Given the description of an element on the screen output the (x, y) to click on. 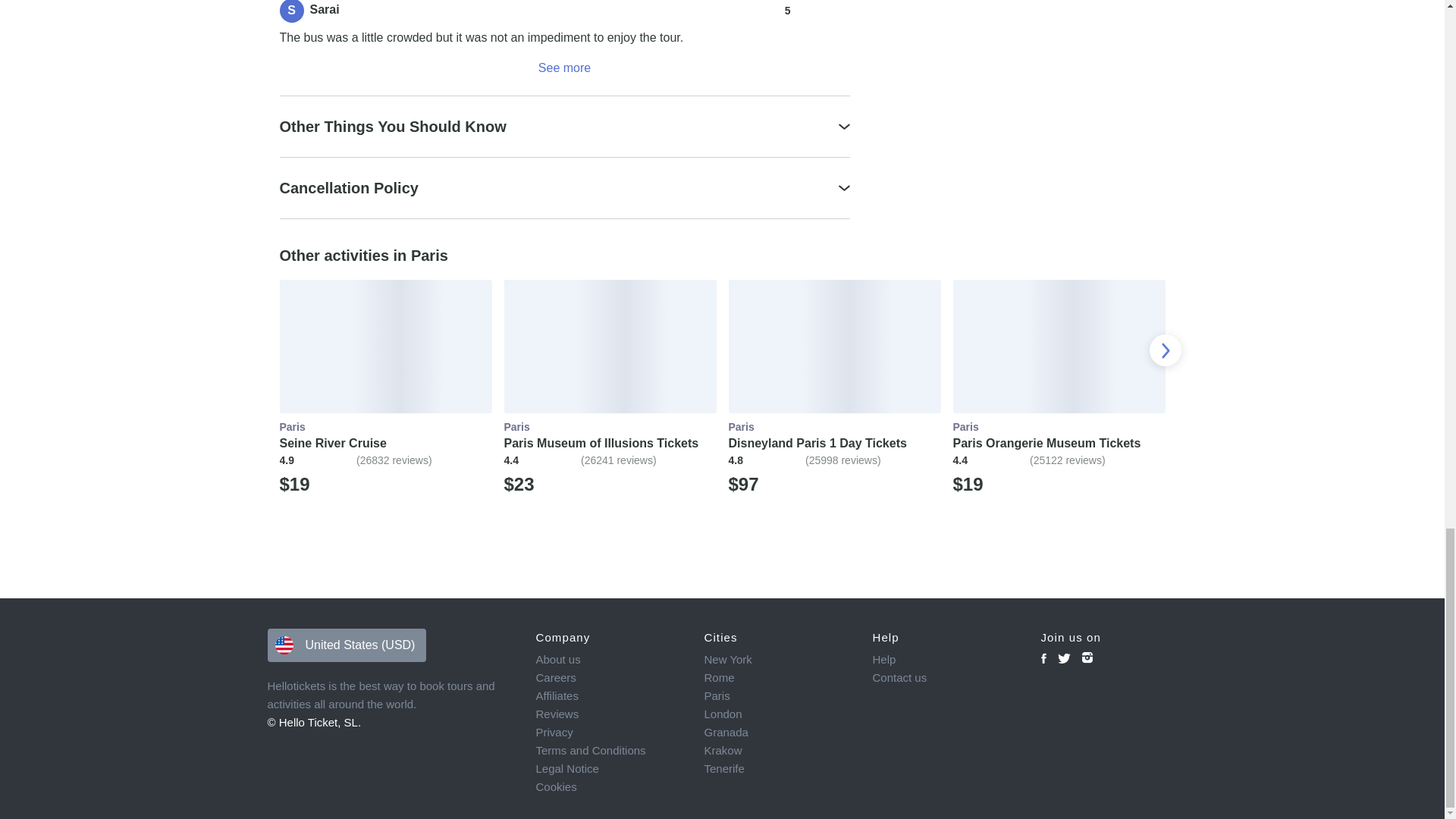
London (776, 714)
Paris (776, 696)
See more (563, 67)
Privacy (608, 732)
Rome (776, 678)
Terms and Conditions (608, 751)
Cookies (608, 787)
New York (776, 659)
Careers (608, 678)
Krakow (776, 751)
Granada (776, 732)
About us (608, 659)
Legal Notice (608, 769)
Affiliates (608, 696)
Reviews (608, 714)
